Given the description of an element on the screen output the (x, y) to click on. 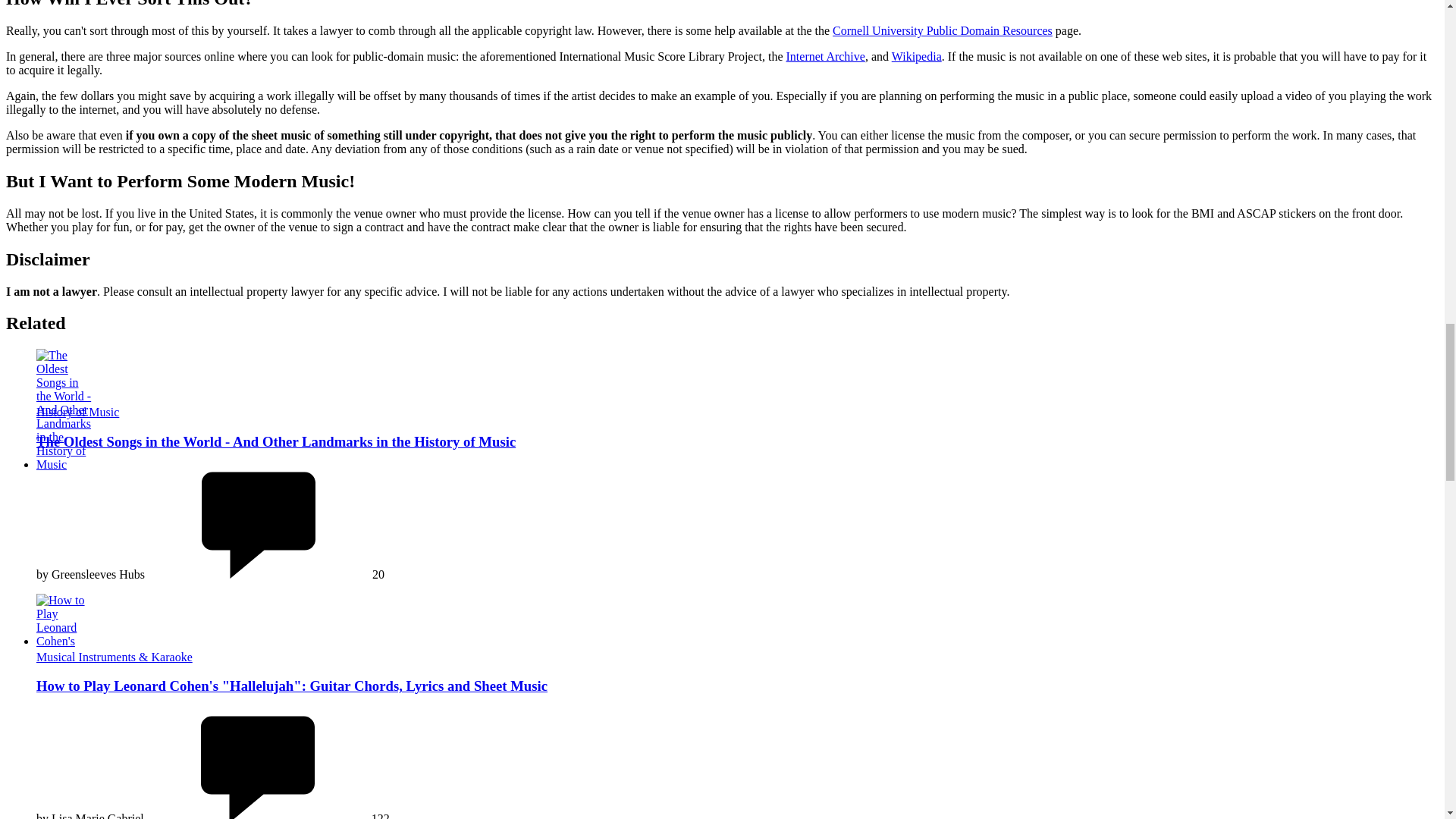
Cornell University Public Domain Resources (942, 30)
How to Play Leonard Cohen's  (64, 620)
Internet Archive (825, 56)
